Given the description of an element on the screen output the (x, y) to click on. 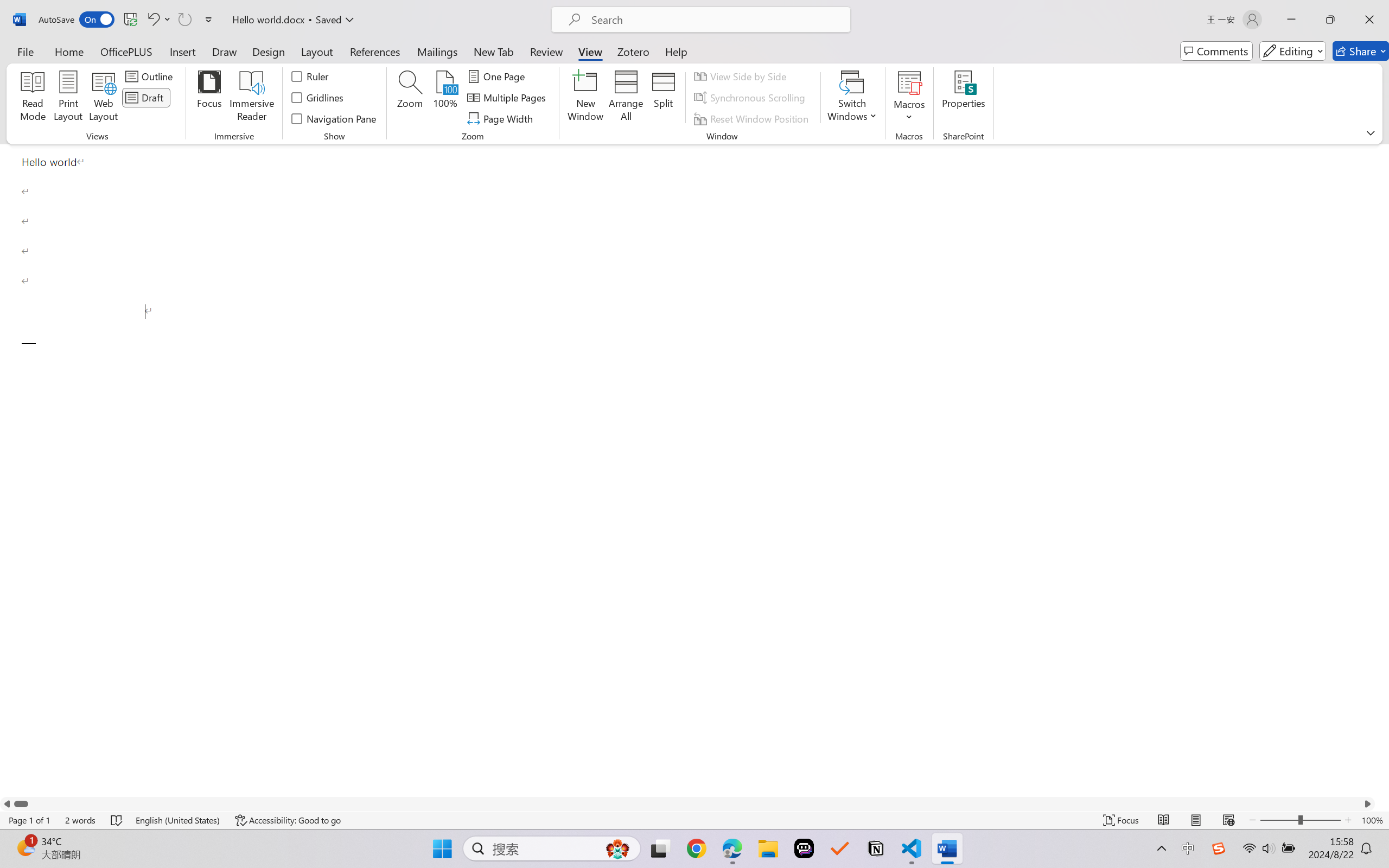
Gridlines (317, 97)
Macros (909, 97)
AutomationID: BadgeAnchorLargeTicker (24, 847)
Word Count 2 words (80, 819)
New Window (585, 97)
Help (675, 51)
View Macros (909, 81)
Zotero (632, 51)
OfficePLUS (126, 51)
Multiple Pages (507, 97)
Class: MsoCommandBar (694, 819)
Class: NetUIScrollBar (687, 803)
View Side by Side (741, 75)
Undo Paragraph Formatting (152, 19)
File Tab (24, 51)
